Given the description of an element on the screen output the (x, y) to click on. 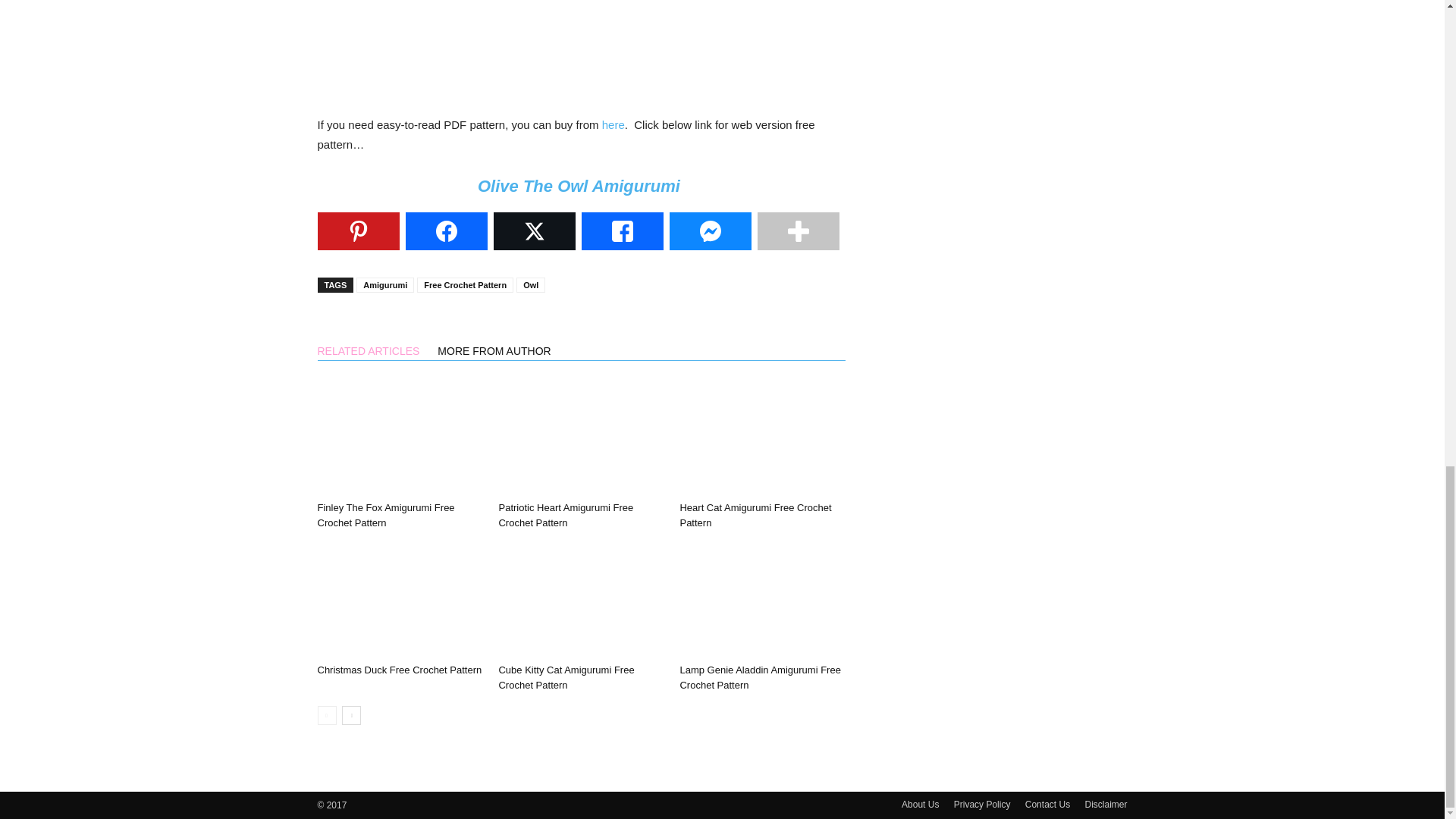
Share on Like (621, 231)
Share on Pinterest (357, 231)
Share on Twitter (534, 231)
Share on More Button (797, 231)
Share on Facebook Messenger (709, 231)
Share on Facebook (445, 231)
